Given the description of an element on the screen output the (x, y) to click on. 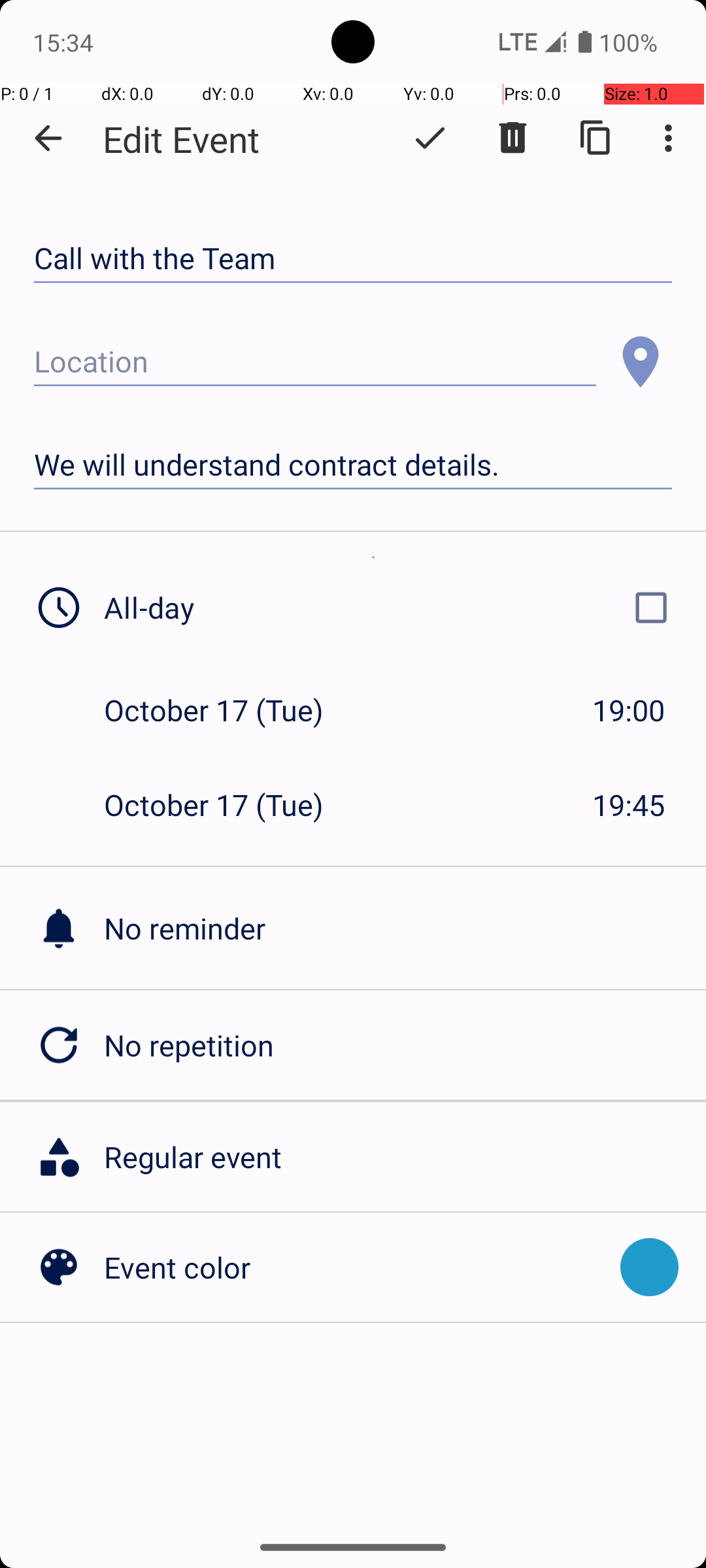
Call with the Team Element type: android.widget.EditText (352, 258)
We will understand contract details. Element type: android.widget.EditText (352, 465)
October 17 (Tue) Element type: android.widget.TextView (227, 709)
19:45 Element type: android.widget.TextView (628, 804)
